Given the description of an element on the screen output the (x, y) to click on. 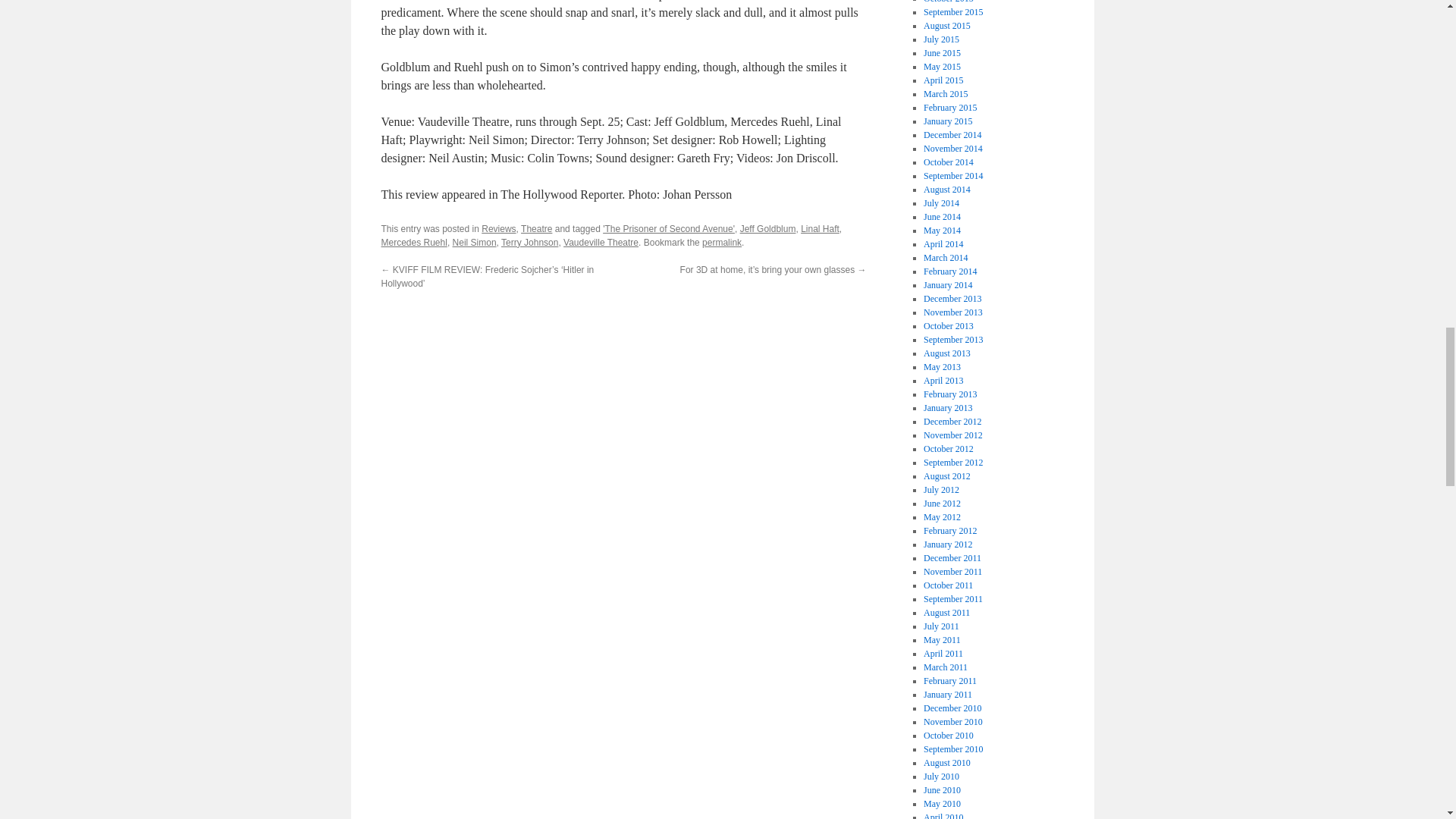
Mercedes Ruehl (413, 242)
Terry Johnson (528, 242)
Reviews (498, 228)
'The Prisoner of Second Avenue' (668, 228)
Jeff Goldblum (767, 228)
permalink (721, 242)
Theatre (536, 228)
Linal Haft (820, 228)
Neil Simon (474, 242)
Vaudeville Theatre (601, 242)
